Given the description of an element on the screen output the (x, y) to click on. 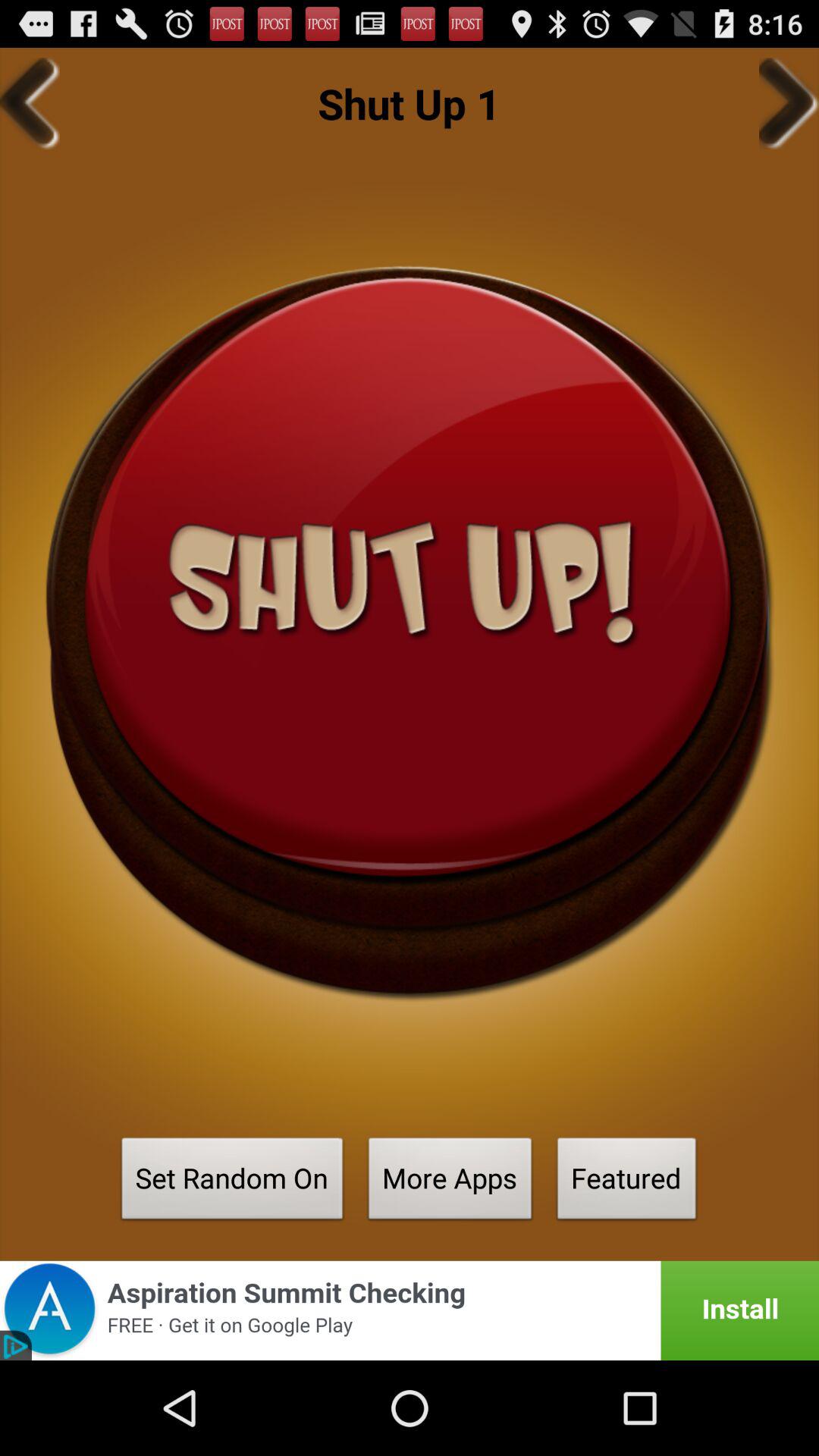
turn on the set random on icon (232, 1182)
